Given the description of an element on the screen output the (x, y) to click on. 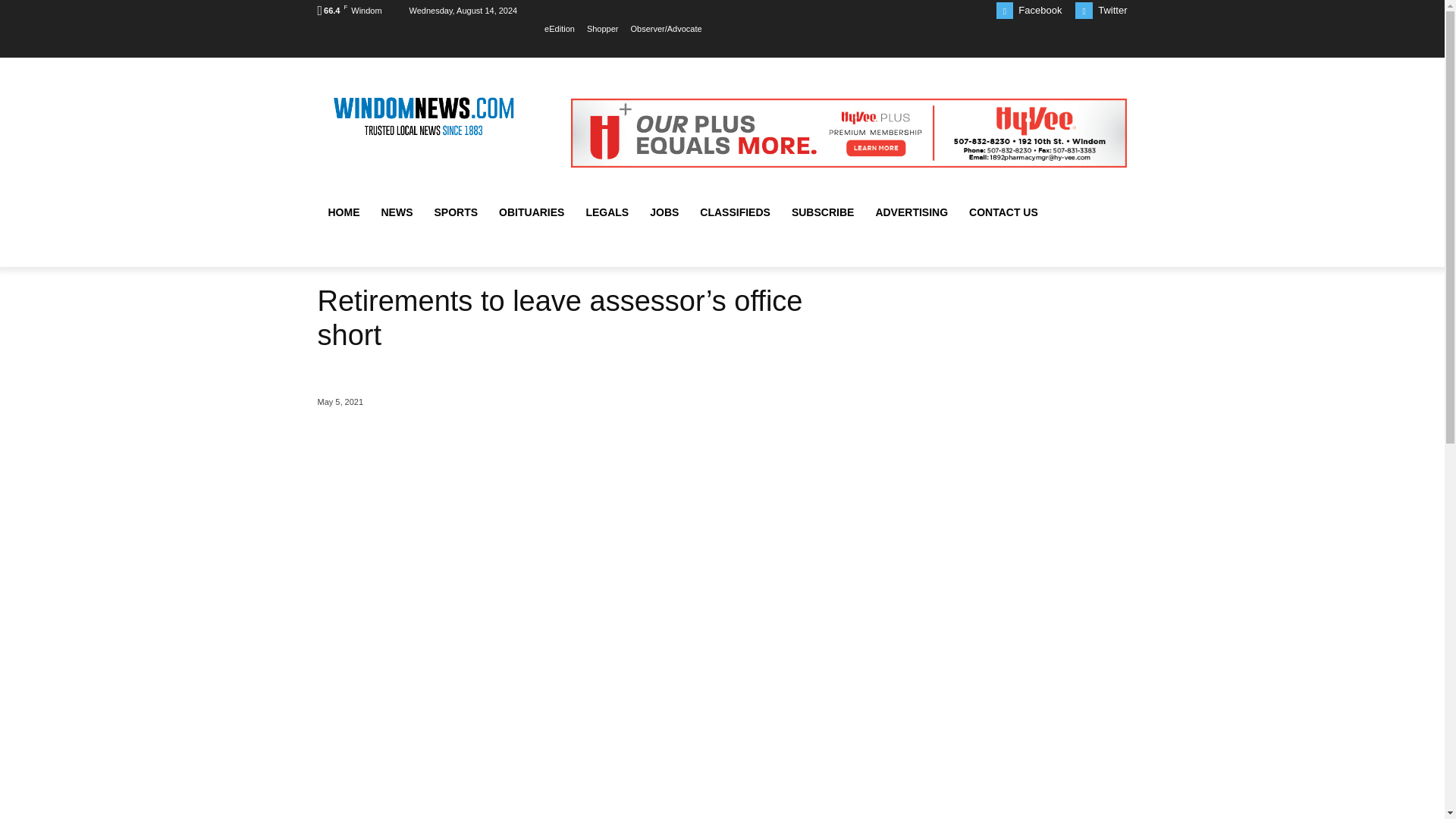
Facebook (1039, 10)
Twitter (1111, 10)
Twitter (1084, 9)
CLASSIFIEDS (734, 212)
eEdition (559, 28)
NEWS (396, 212)
OBITUARIES (531, 212)
Facebook (1004, 9)
HOME (343, 212)
SPORTS (455, 212)
